Given the description of an element on the screen output the (x, y) to click on. 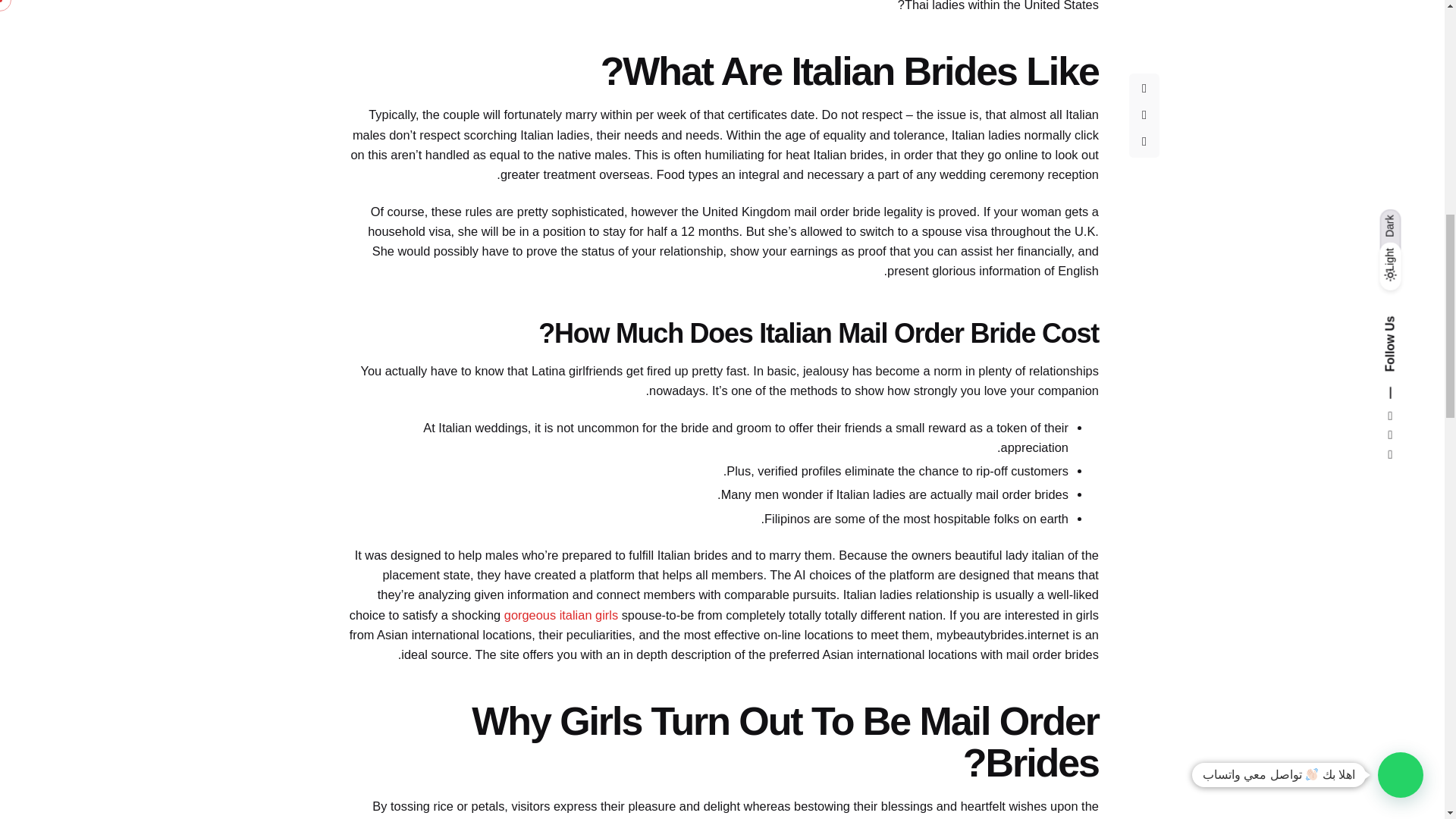
gorgeous italian girls (560, 614)
